Given the description of an element on the screen output the (x, y) to click on. 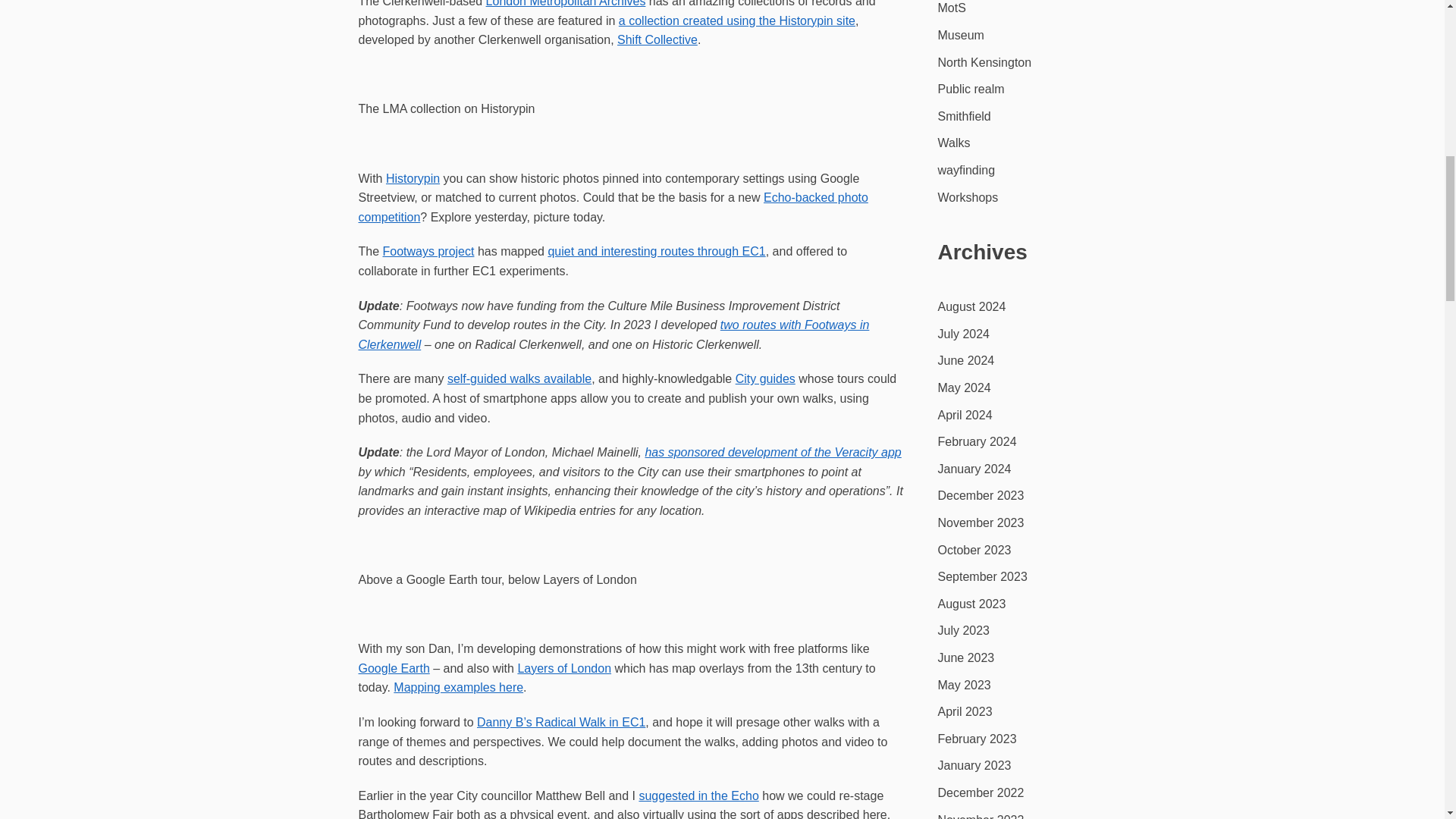
City guides (764, 378)
Echo-backed photo competition (612, 206)
self-guided walks available (518, 378)
Historypin (412, 178)
Shift Collective (657, 39)
Google Earth (393, 667)
quiet and interesting routes through EC1 (656, 250)
has sponsored development of the Veracity app (773, 451)
London Metropolitan Archives (566, 3)
suggested in the Echo (698, 795)
